Given the description of an element on the screen output the (x, y) to click on. 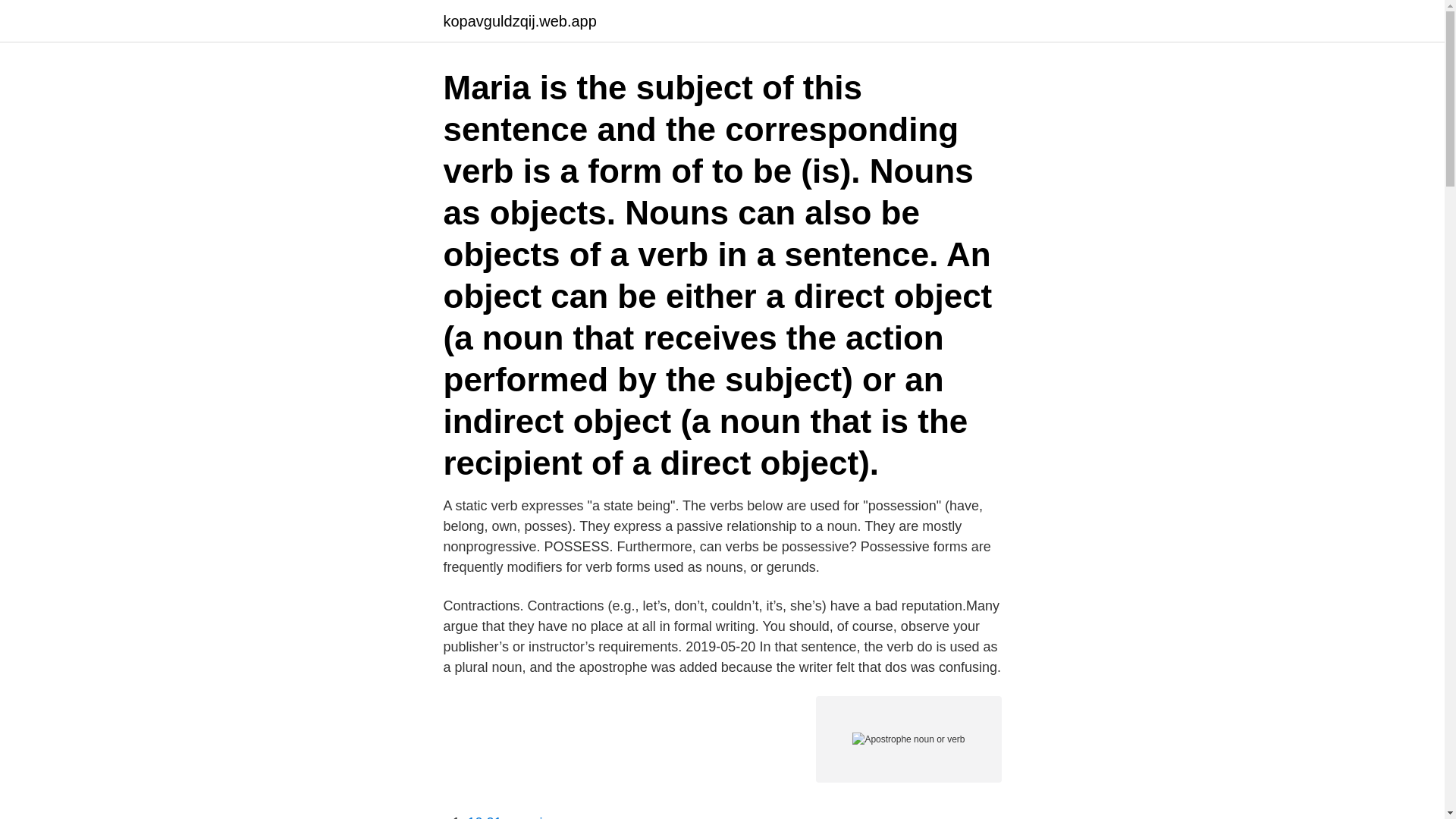
kopavguldzqij.web.app (518, 20)
10 21 meaning (512, 816)
